Given the description of an element on the screen output the (x, y) to click on. 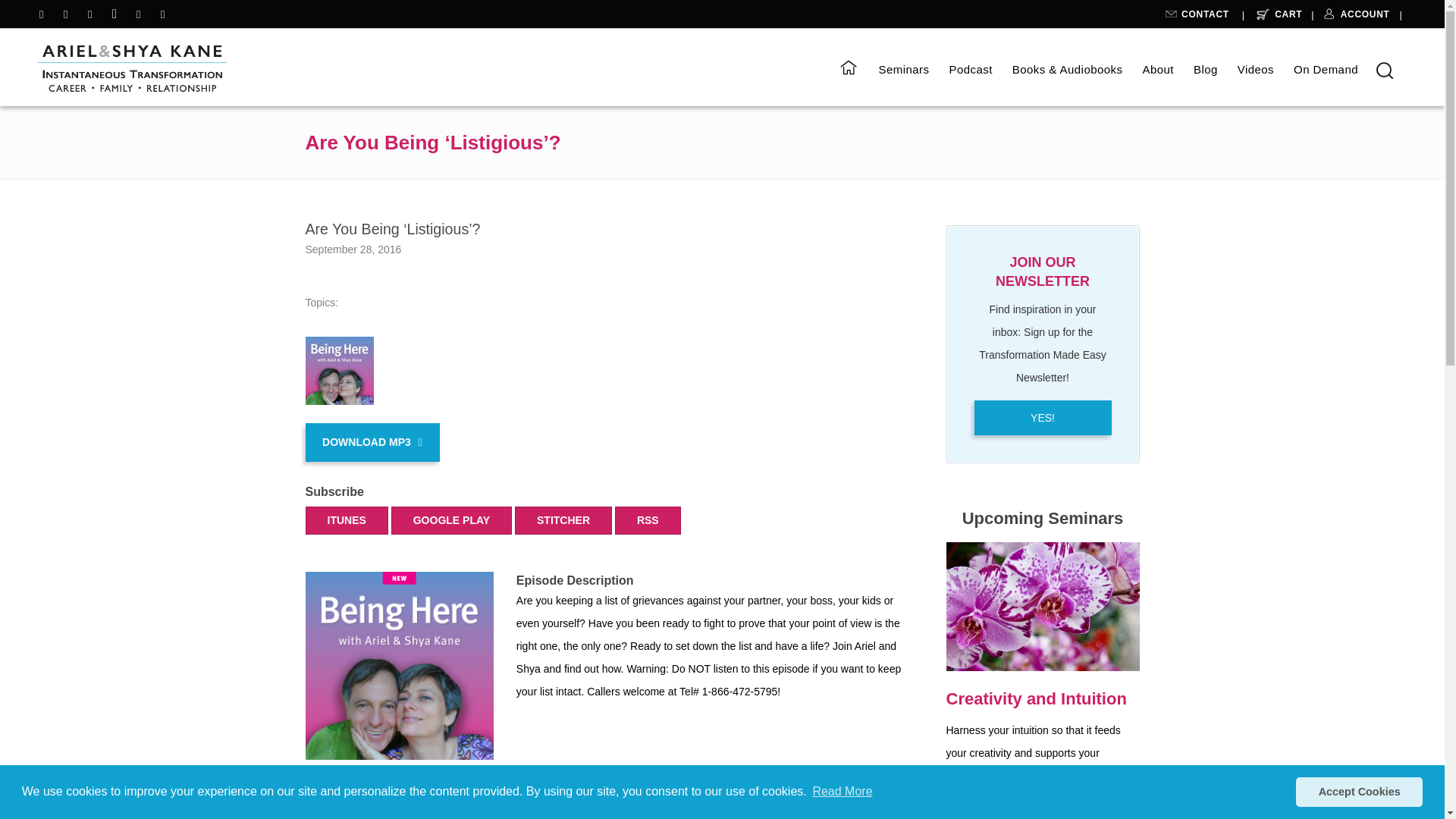
iTunes (451, 520)
Accept Cookies (1358, 791)
iTunes (345, 520)
iTunes (563, 520)
On Demand (1326, 69)
iTunes (647, 520)
CONTACT (1198, 17)
Seminars (903, 69)
CART (1275, 17)
Read More (842, 791)
ACCOUNT (1355, 17)
